Given the description of an element on the screen output the (x, y) to click on. 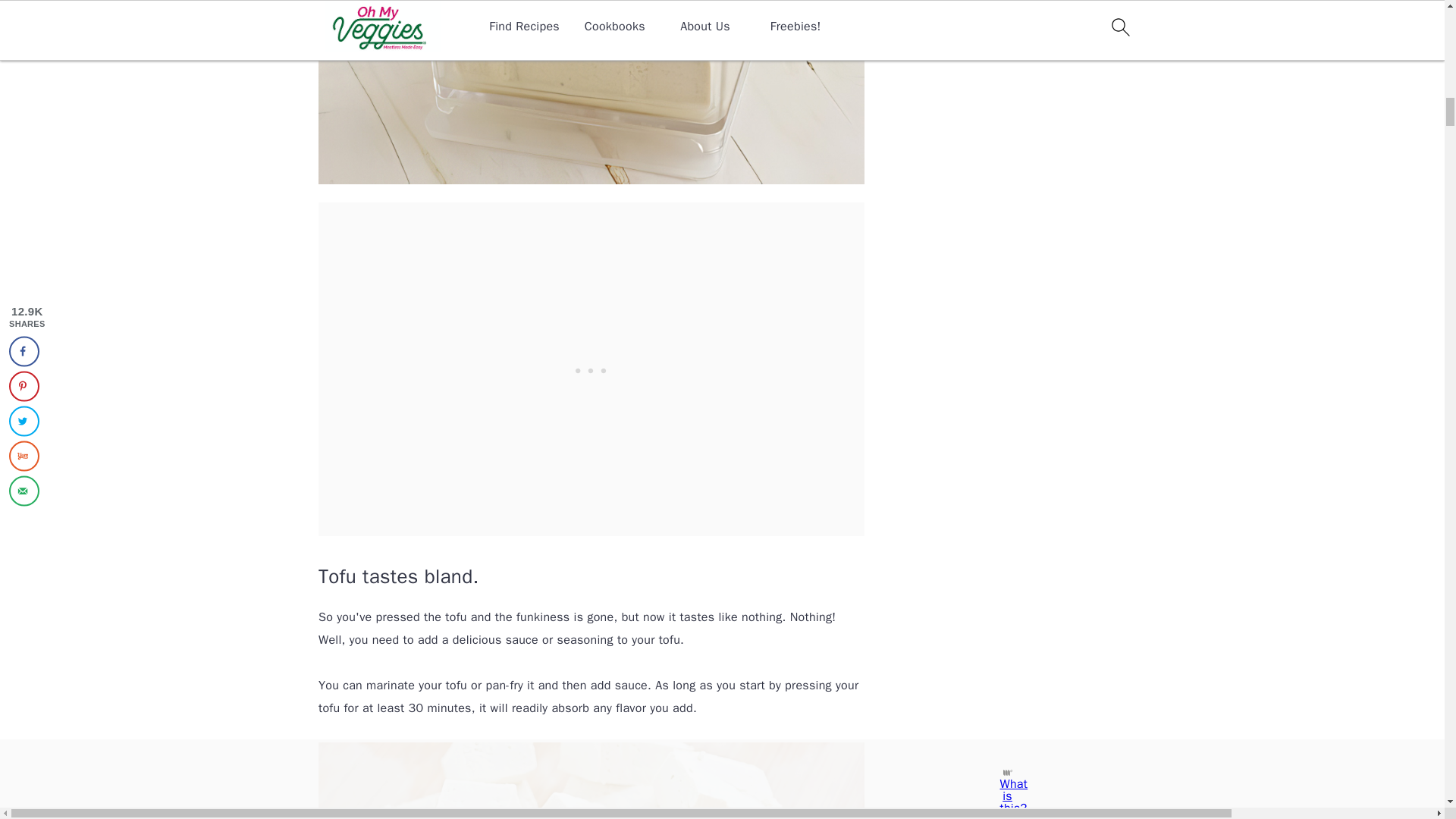
Tofu Cubes (591, 780)
Tofu Press (591, 92)
